Given the description of an element on the screen output the (x, y) to click on. 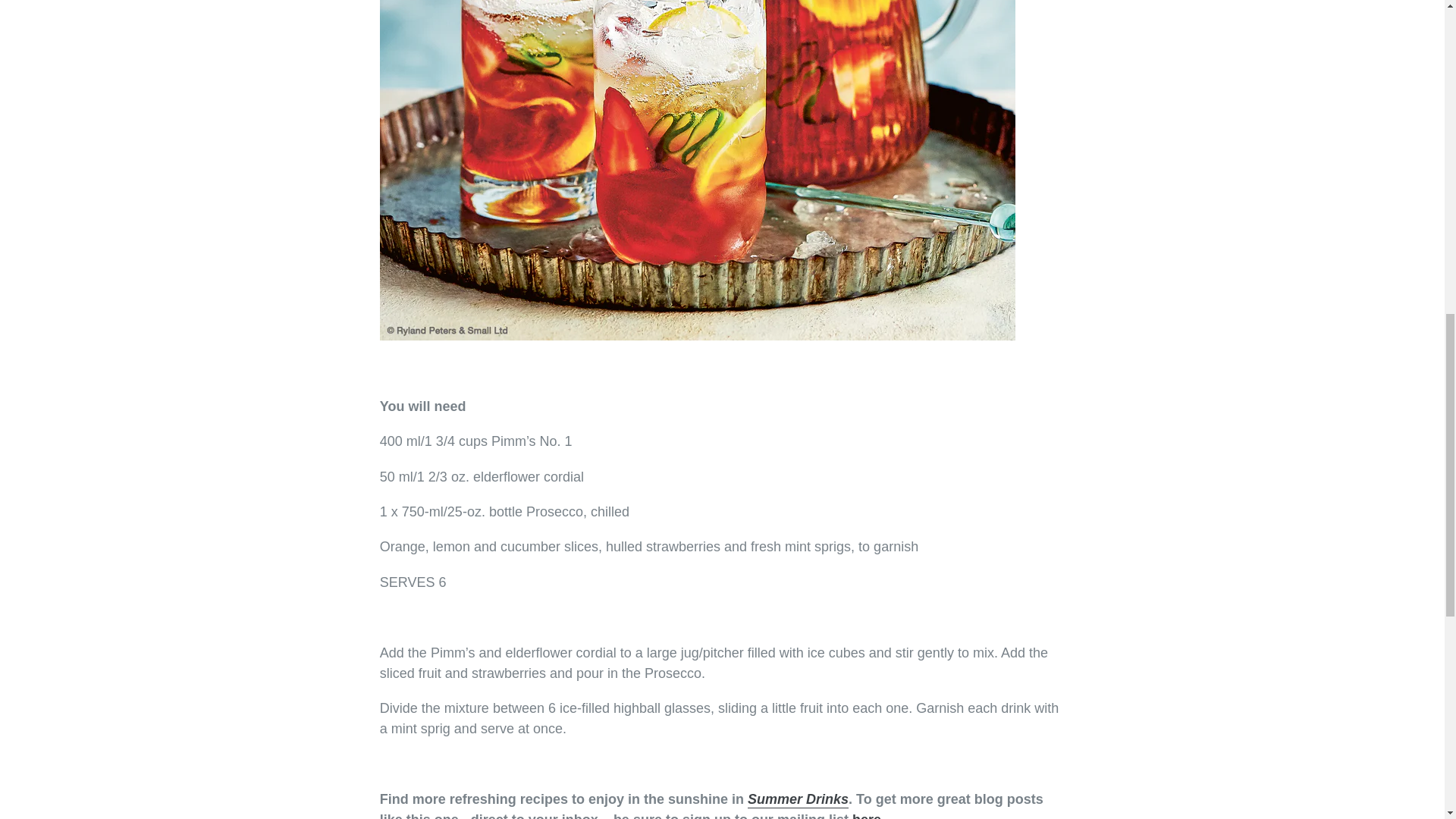
Summer Drinks (798, 799)
